Given the description of an element on the screen output the (x, y) to click on. 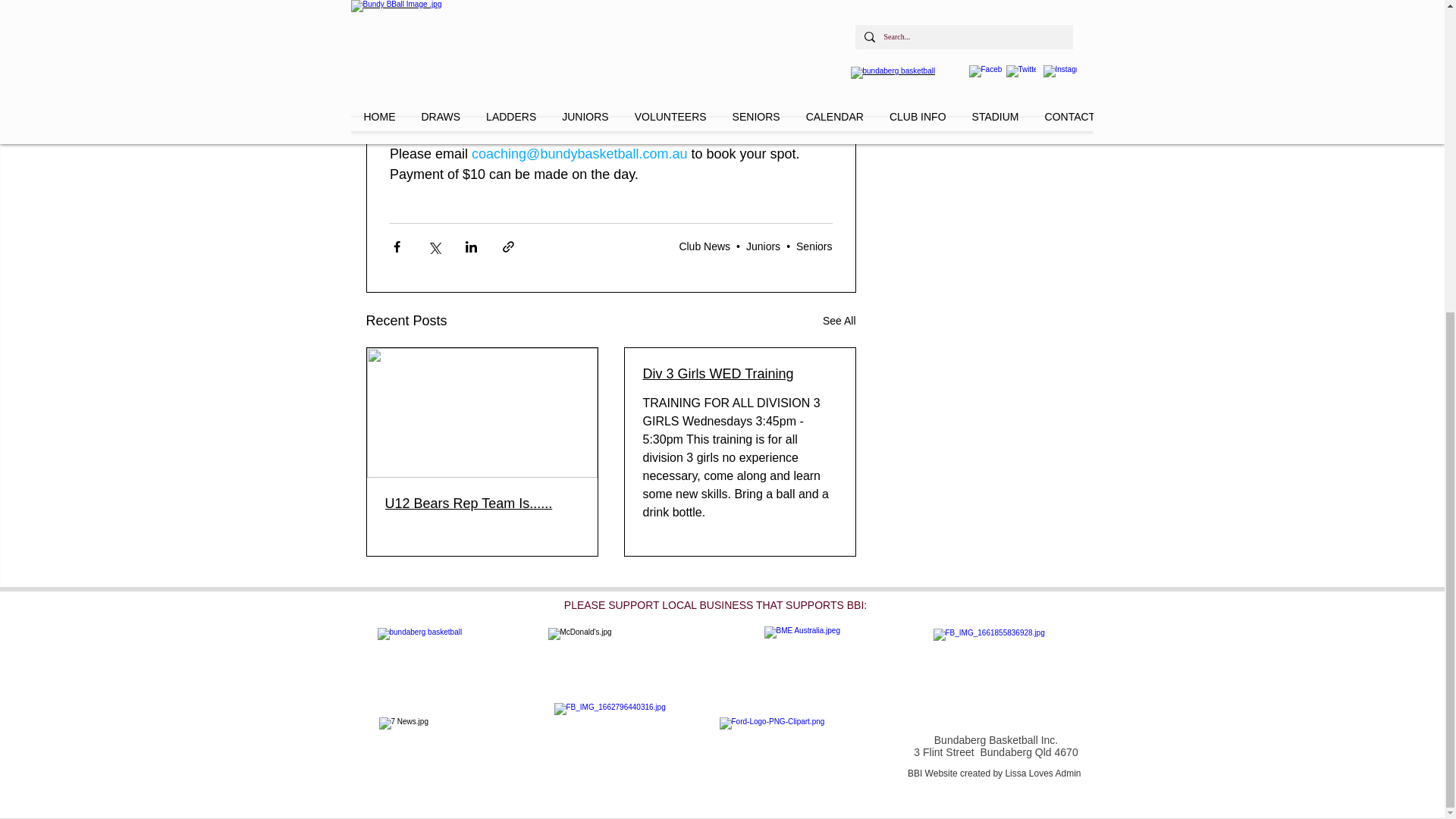
Autobarn Bundaberg (441, 661)
